Given the description of an element on the screen output the (x, y) to click on. 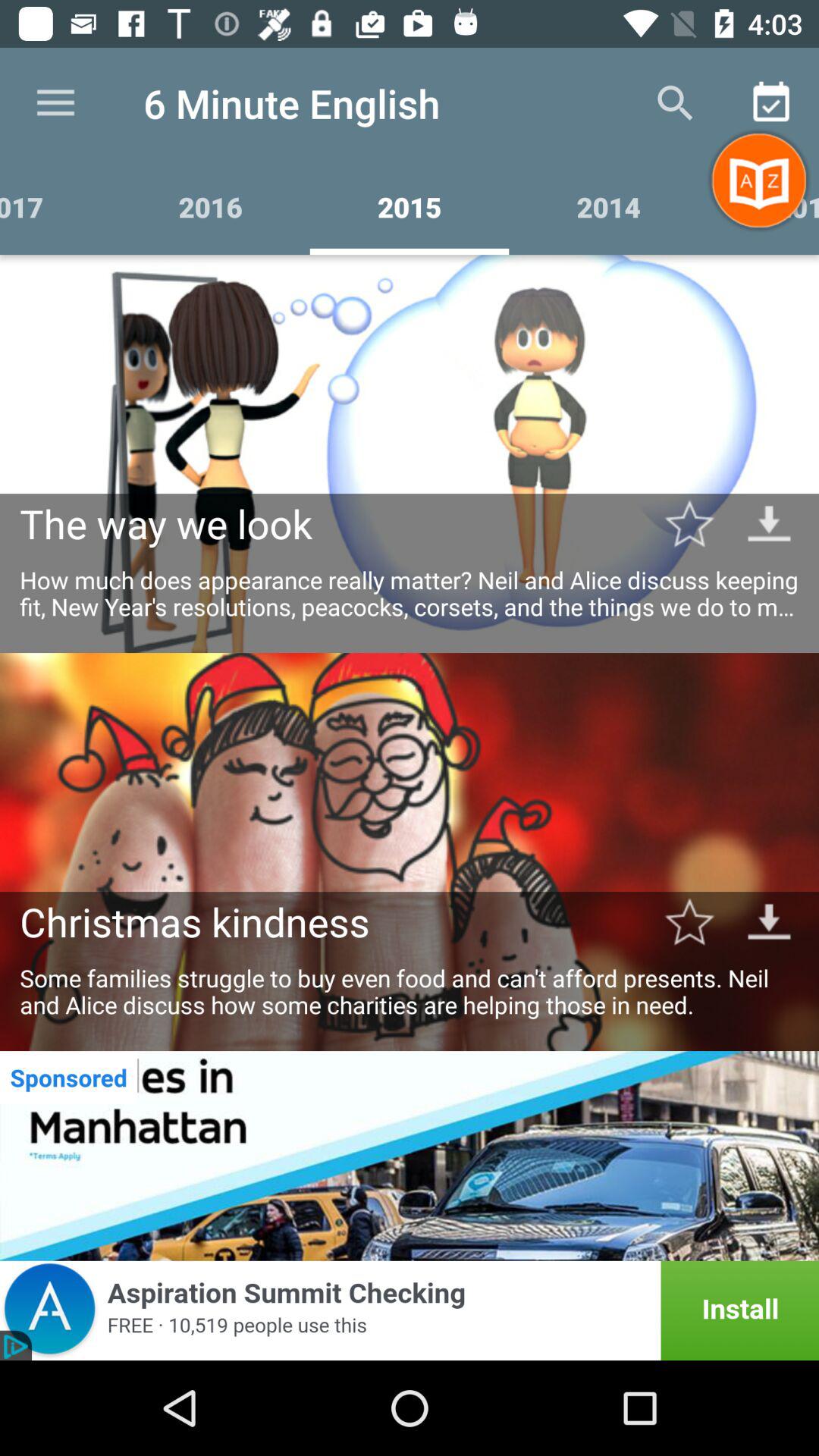
click on the download symbol which is beside the way we look (769, 523)
click on the search option (675, 103)
click on the colander icon (771, 103)
